Given the description of an element on the screen output the (x, y) to click on. 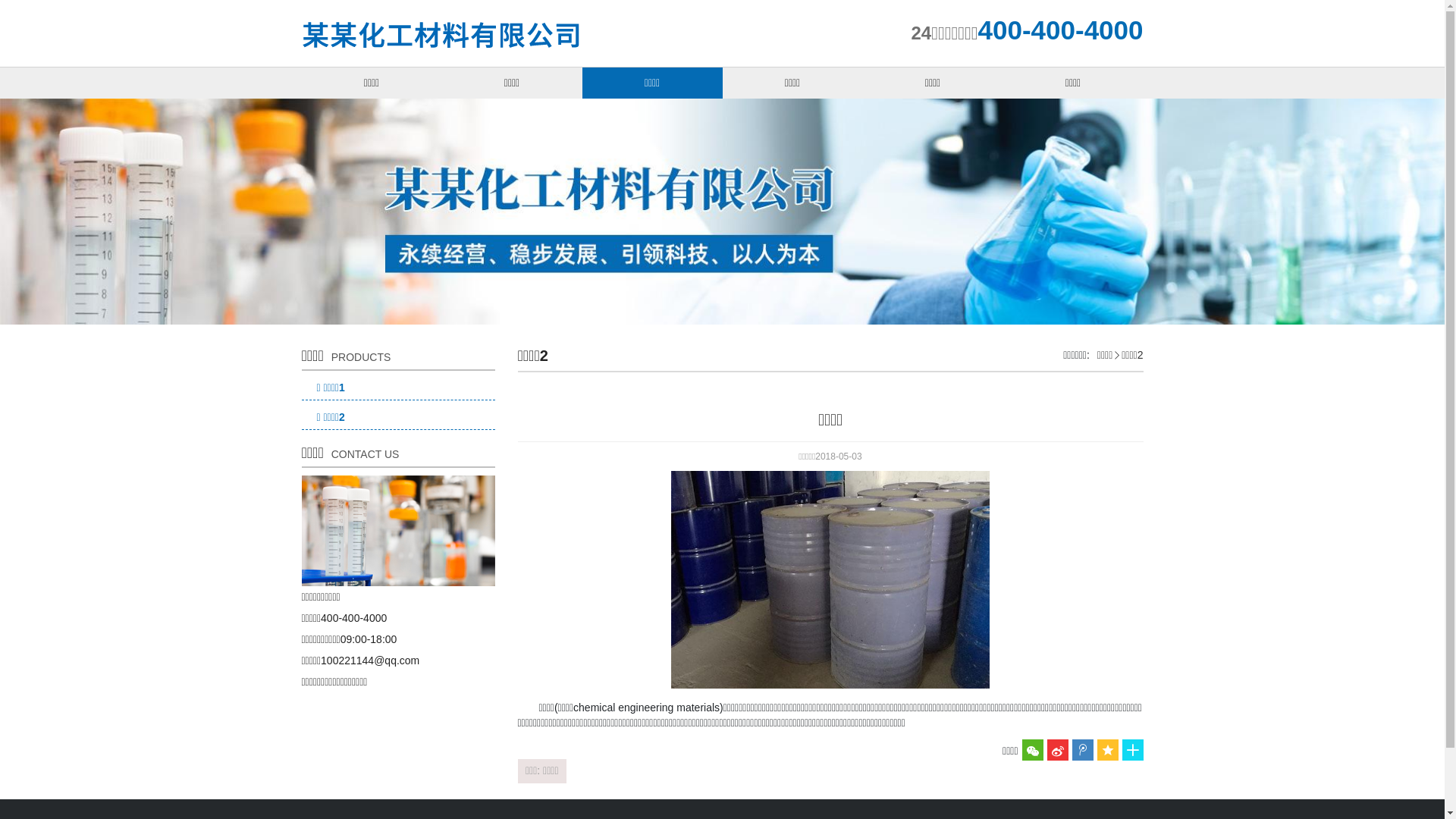
400-400-4000 Element type: text (1060, 29)
